Given the description of an element on the screen output the (x, y) to click on. 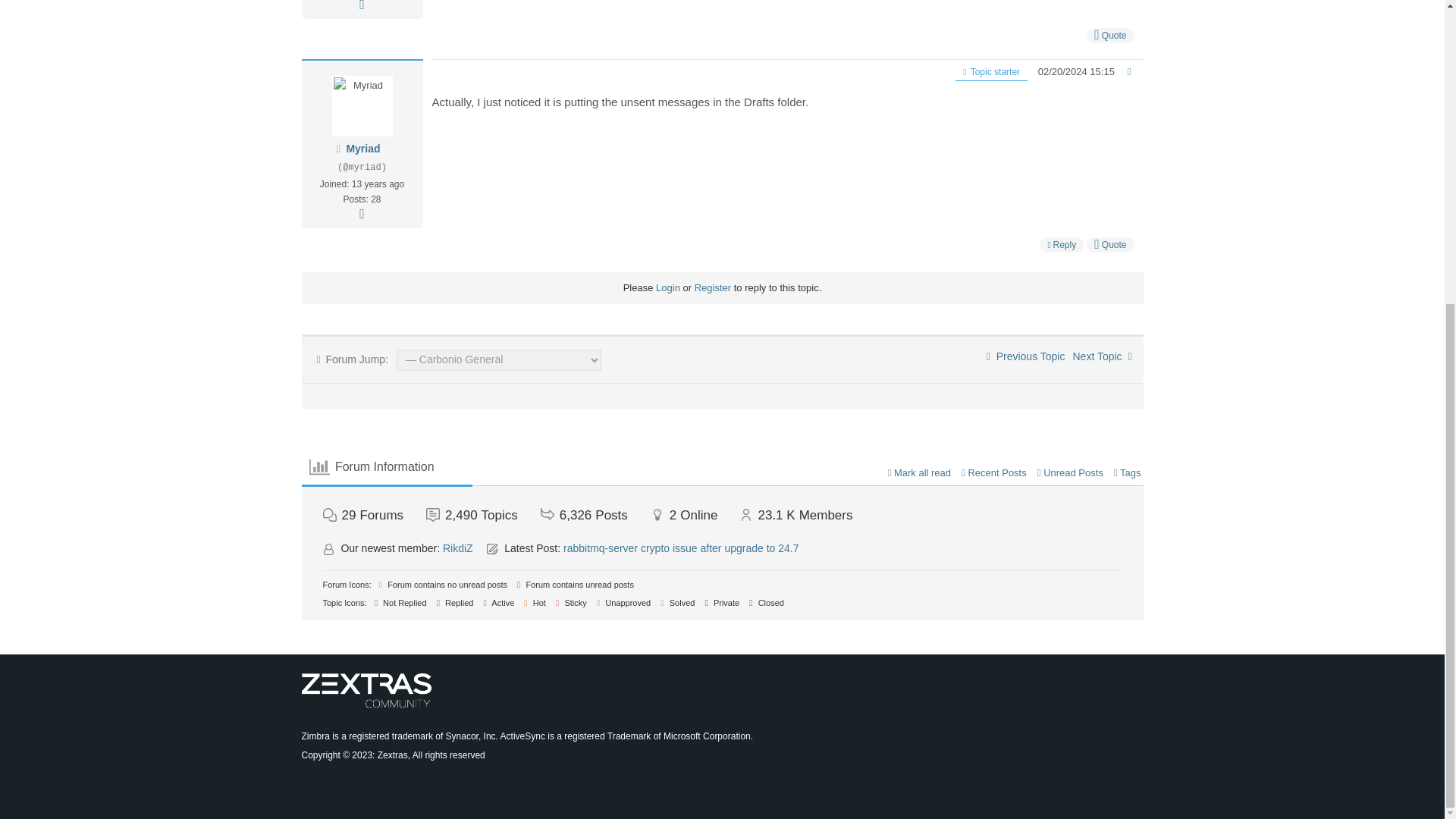
  Previous Topic (1026, 356)
Login (667, 287)
Next Topic   (1101, 356)
Myriad (363, 148)
Myriad (363, 148)
More (361, 213)
Myriad (362, 106)
Mark all read (920, 472)
More (361, 5)
Register (712, 287)
